Given the description of an element on the screen output the (x, y) to click on. 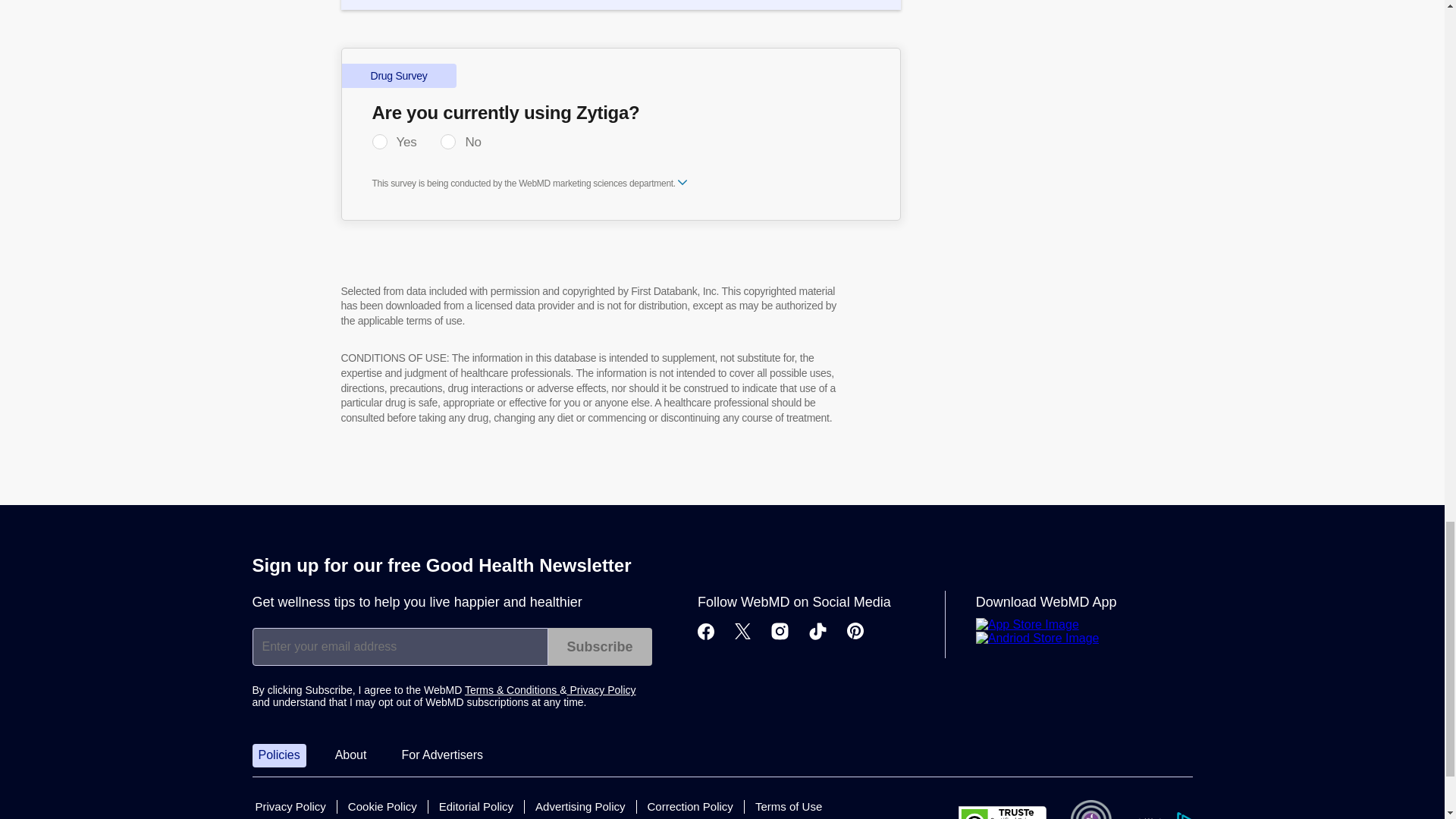
TRUSTe Privacy Certification (1002, 812)
TAG Registered Seal (1091, 809)
Adchoices (1163, 815)
